Given the description of an element on the screen output the (x, y) to click on. 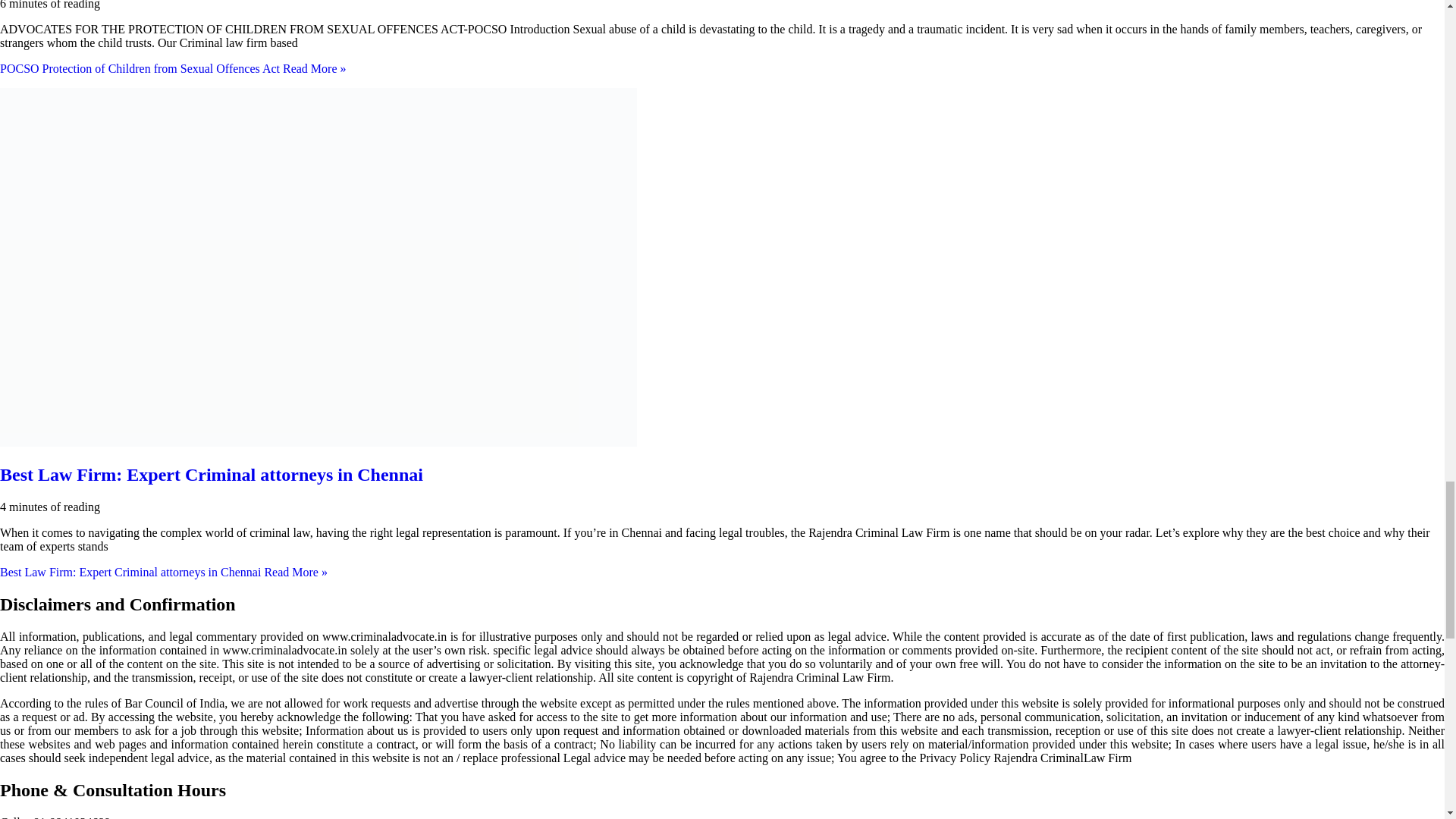
Best Law Firm: Expert Criminal attorneys in Chennai (211, 474)
